Given the description of an element on the screen output the (x, y) to click on. 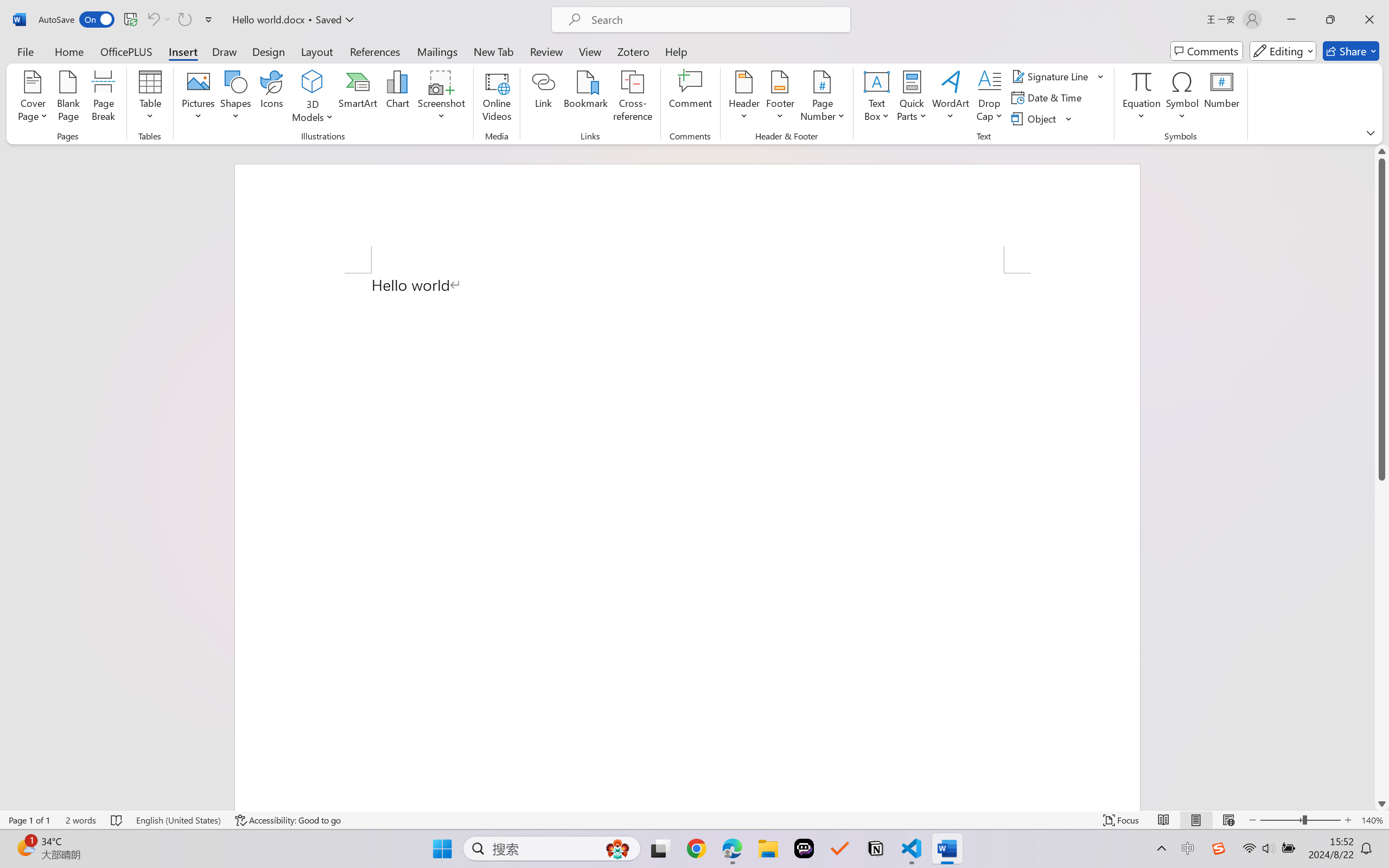
Signature Line (1058, 75)
Zoom (1300, 819)
Cross-reference... (632, 97)
Can't Undo (152, 19)
Icons (271, 97)
Footer (780, 97)
Close (1369, 19)
Object... (1042, 118)
OfficePLUS (126, 51)
Can't Undo (158, 19)
Accessibility Checker Accessibility: Good to go (288, 819)
Page 1 content (687, 541)
Zoom Out (1280, 819)
Home (69, 51)
